Given the description of an element on the screen output the (x, y) to click on. 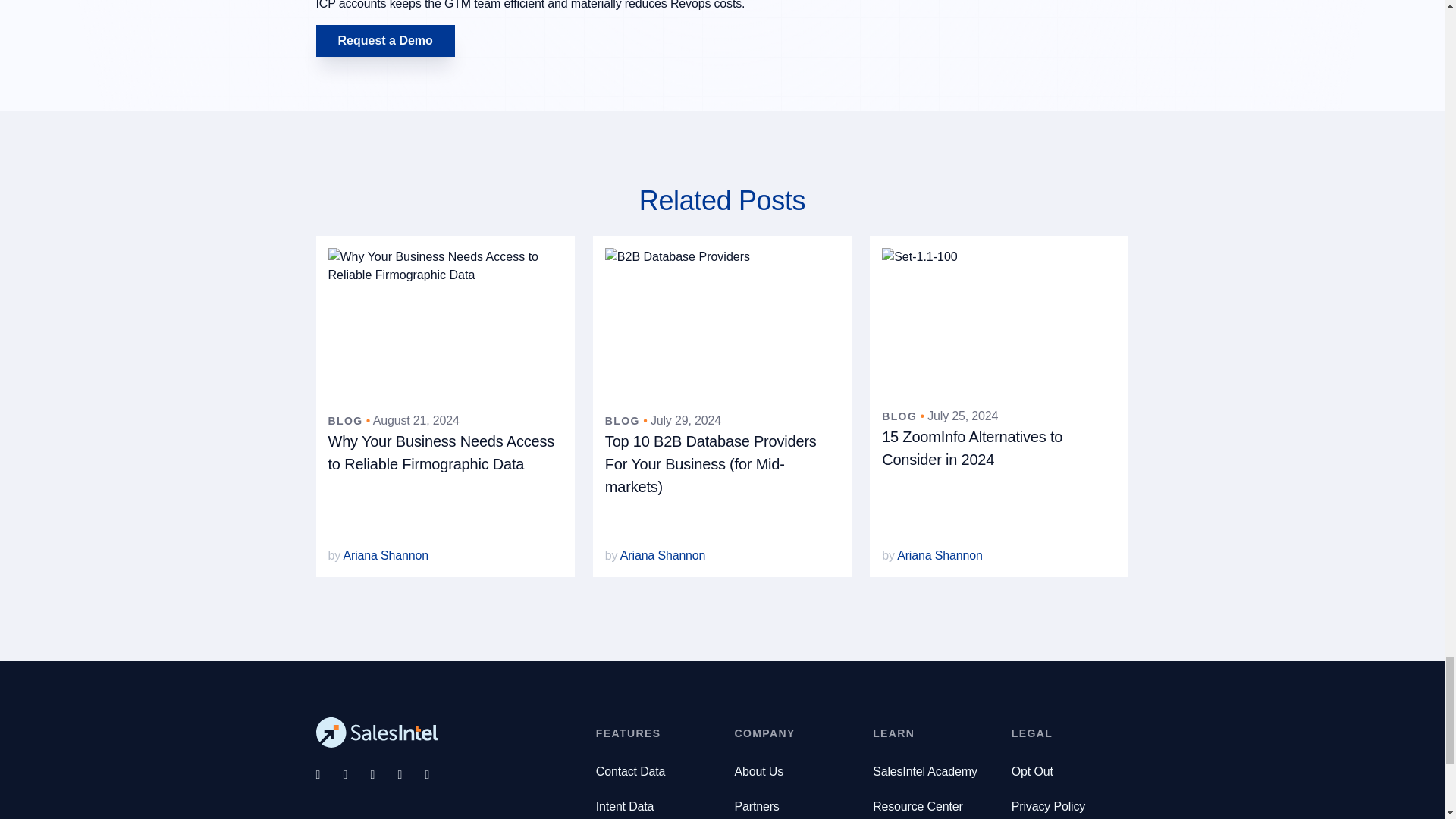
vimeo (438, 774)
Why Your Business Needs Access to Reliable Firmographic Data (440, 452)
twitter (355, 774)
Posts by Ariana Shannon (663, 554)
youtube (383, 774)
Posts by Ariana Shannon (385, 554)
linkedin (411, 774)
Posts by Ariana Shannon (939, 554)
15 ZoomInfo Alternatives to Consider in 2024 (972, 447)
facebook (328, 774)
